Given the description of an element on the screen output the (x, y) to click on. 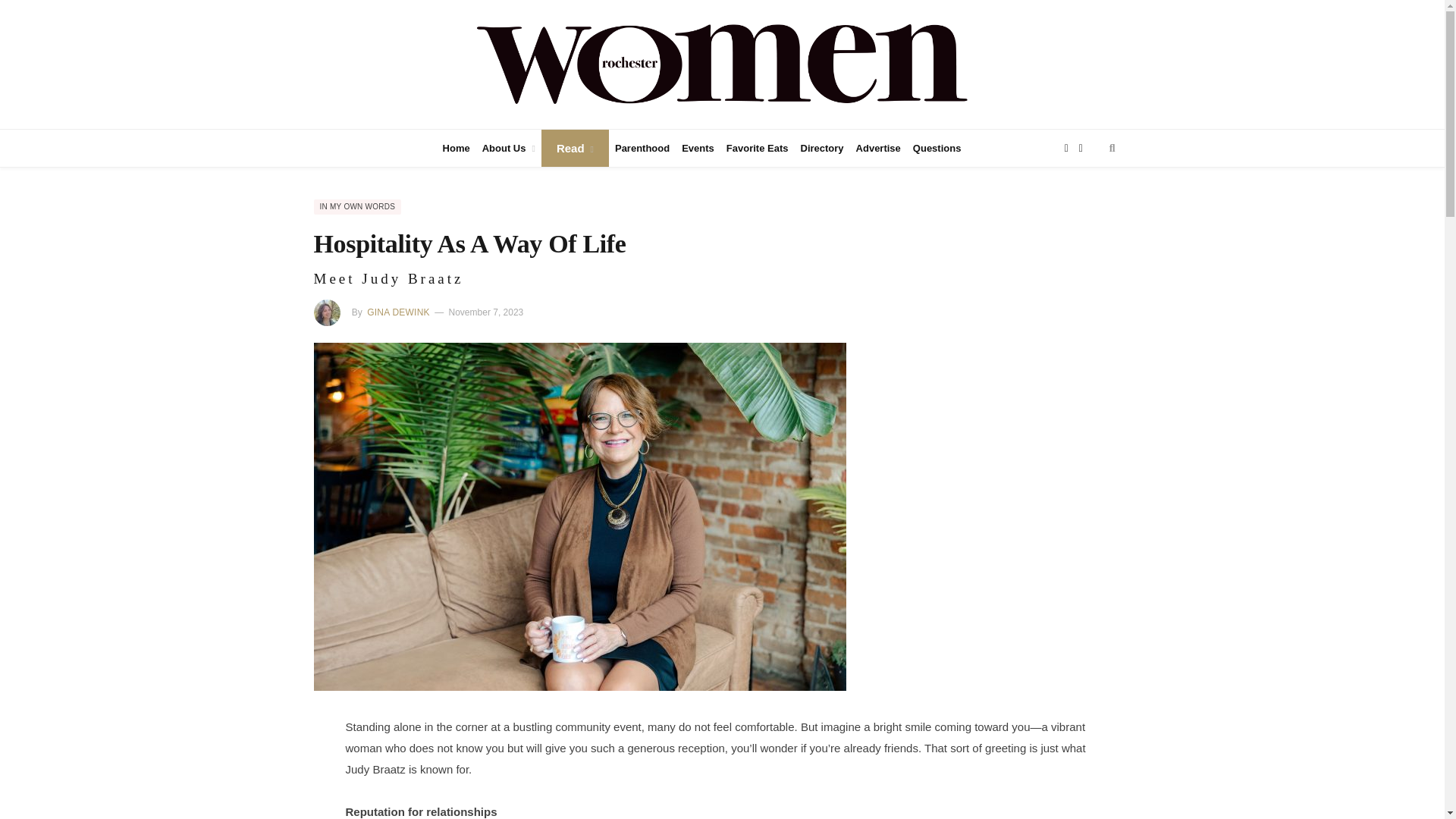
About Us (508, 147)
Parenthood (641, 147)
Facebook (1069, 147)
Posts by Gina Dewink (397, 312)
Events (697, 147)
Instagram (1084, 147)
Advertise (878, 147)
Favorite Eats (757, 147)
Directory (822, 147)
RWM (722, 61)
Home (456, 147)
Read (574, 147)
Search (1112, 147)
